Given the description of an element on the screen output the (x, y) to click on. 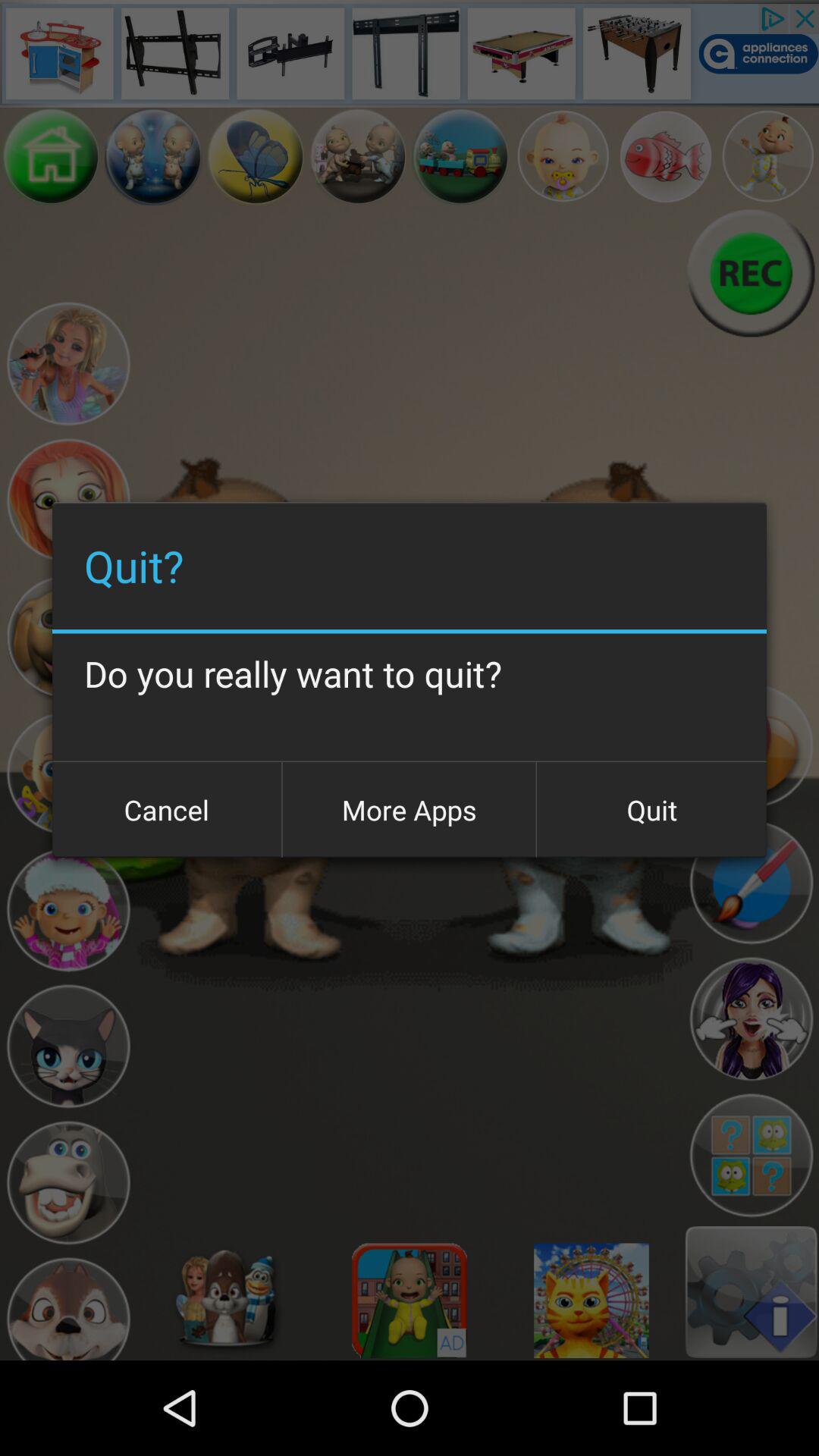
for image (665, 156)
